Given the description of an element on the screen output the (x, y) to click on. 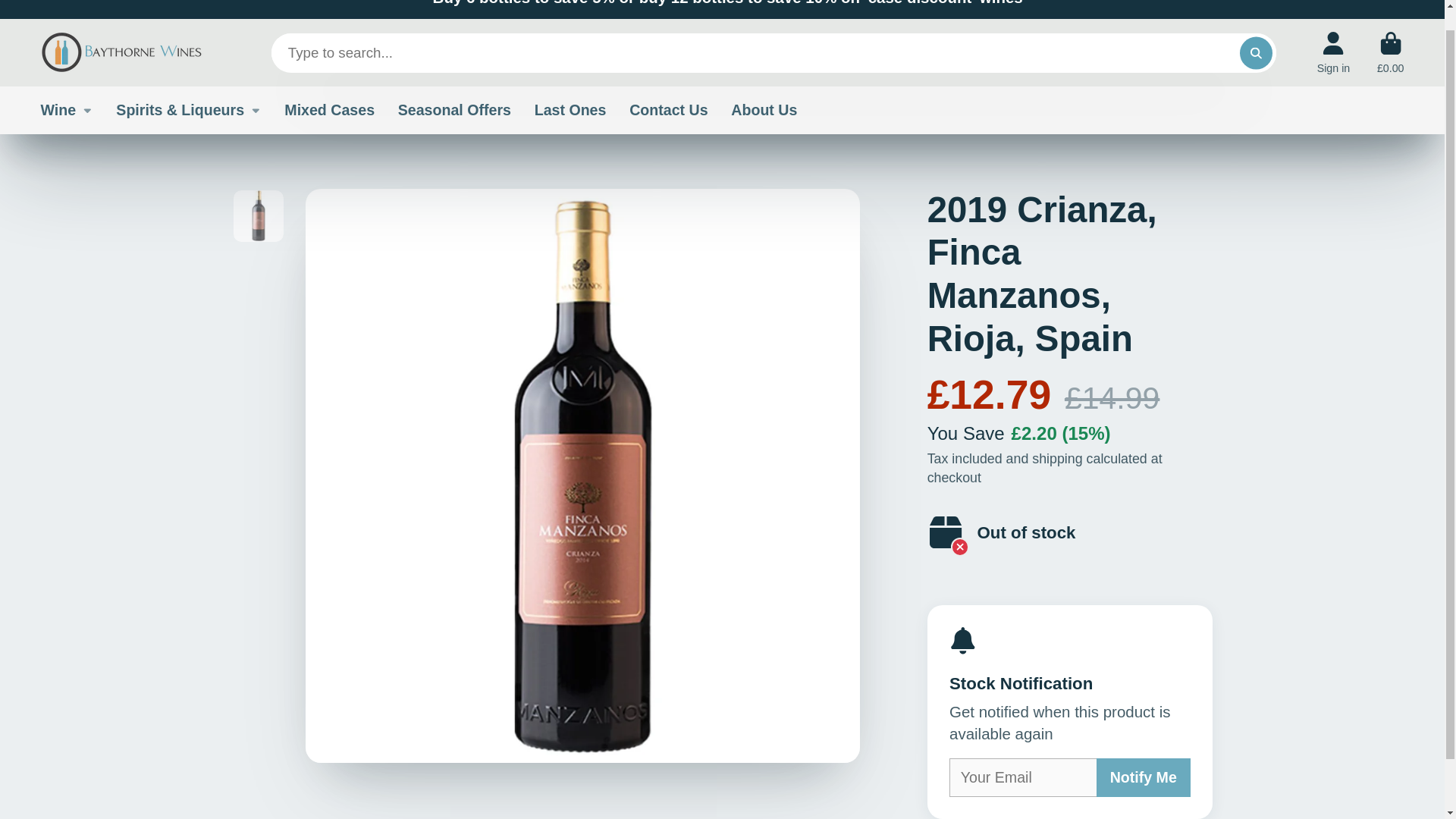
Wine (66, 110)
Last Ones (570, 110)
Logo (121, 52)
Contact Us (667, 110)
Notify Me (1143, 777)
About Us (763, 110)
Seasonal Offers (454, 110)
Mixed Cases (328, 110)
